Given the description of an element on the screen output the (x, y) to click on. 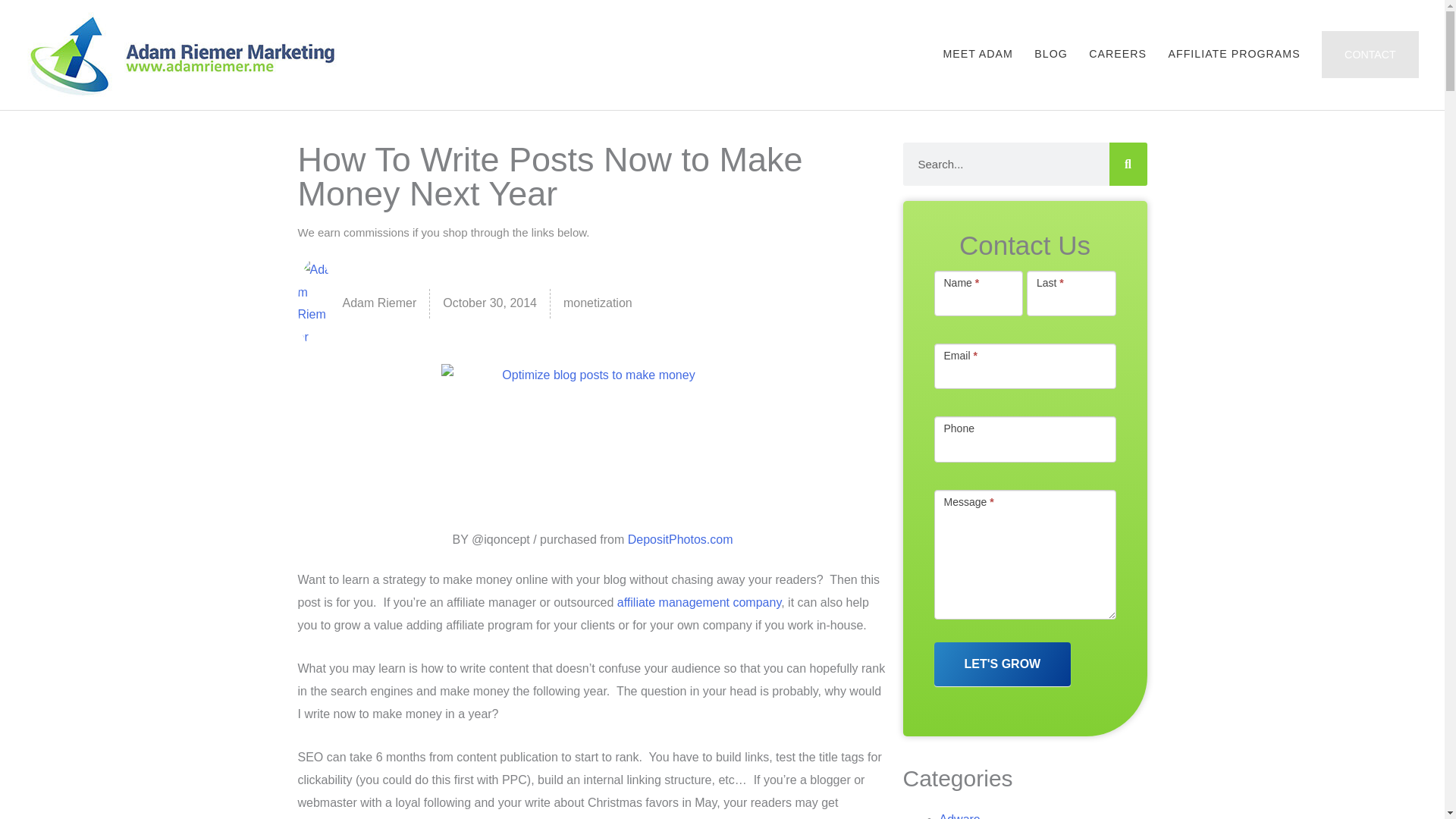
MEET ADAM (977, 53)
AFFILIATE PROGRAMS (1234, 53)
monetization (597, 302)
CONTACT (1370, 53)
LET'S GROW (1002, 664)
BLOG (1050, 53)
October 30, 2014 (489, 302)
affiliate management company (698, 602)
affiliate management company (698, 602)
  Adam Riemer (356, 303)
CAREERS (1117, 53)
Adware (959, 816)
DepositPhotos.com (680, 539)
